Given the description of an element on the screen output the (x, y) to click on. 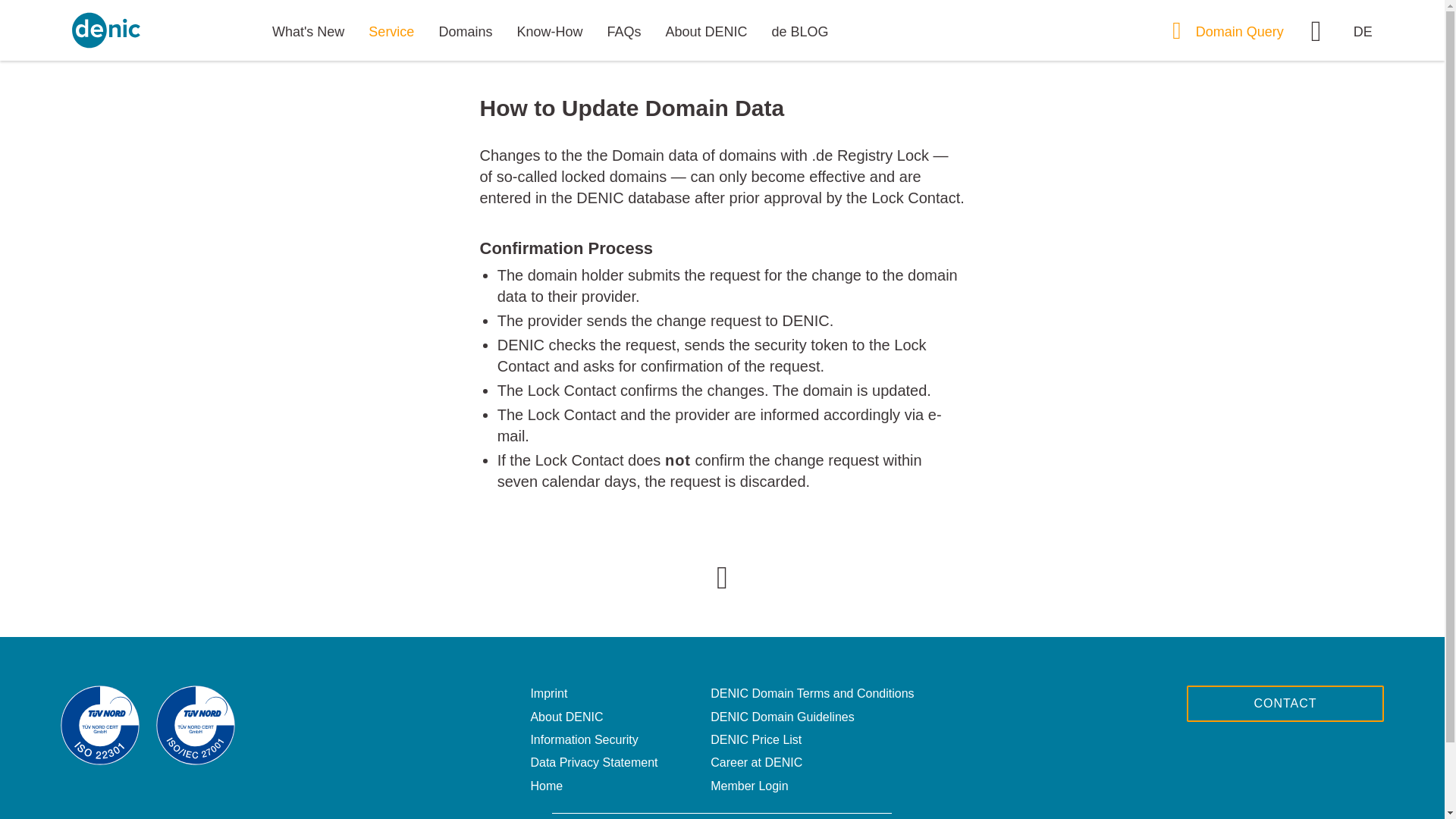
Domains (464, 31)
What's New (308, 31)
Service (391, 31)
Click the image to zoom (721, 561)
Domain Query (1230, 31)
